Given the description of an element on the screen output the (x, y) to click on. 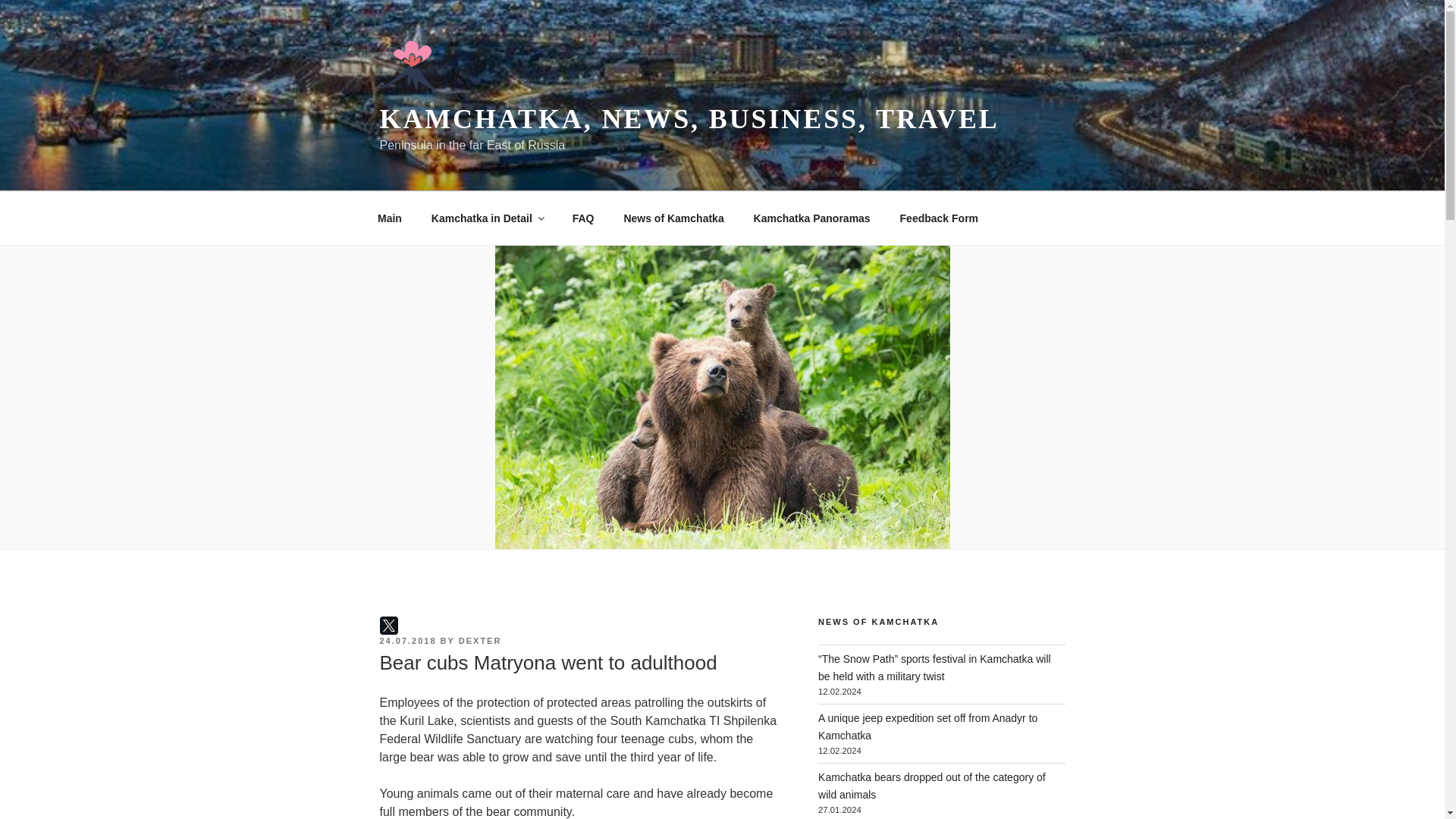
DEXTER (480, 640)
KAMCHATKA, NEWS, BUSINESS, TRAVEL (688, 119)
Twitter (387, 625)
Kamchatka bears dropped out of the category of wild animals (931, 785)
Feedback Form (938, 218)
Kamchatka in Detail (486, 218)
Kamchatka Panoramas (811, 218)
News of Kamchatka (673, 218)
A unique jeep expedition set off from Anadyr to Kamchatka (927, 726)
24.07.2018 (406, 640)
Main (389, 218)
FAQ (583, 218)
